Given the description of an element on the screen output the (x, y) to click on. 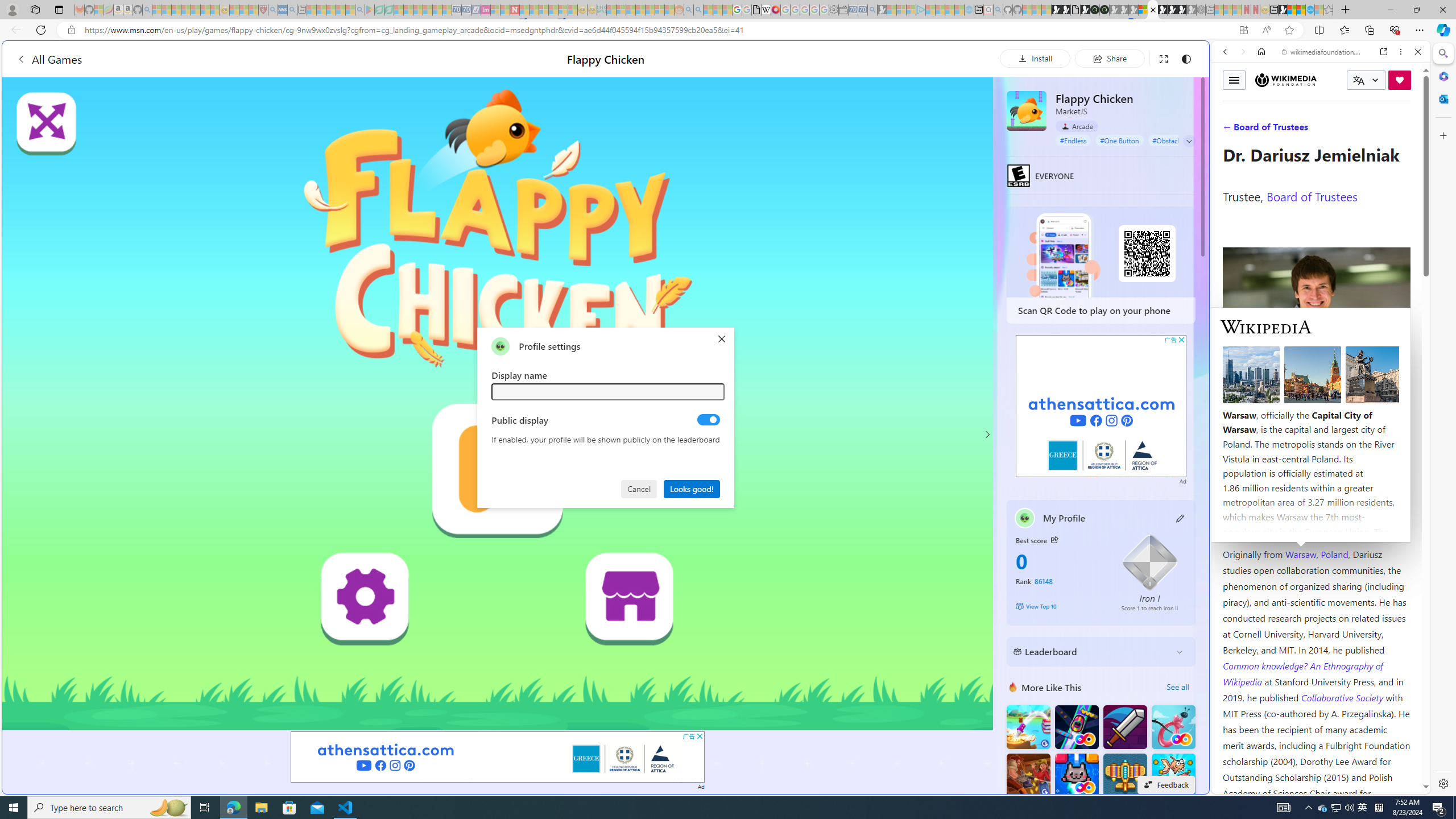
Advertisement (1101, 405)
Warsaw (1300, 554)
Microsoft Start Gaming - Sleeping (881, 9)
Search Filter, VIDEOS (1300, 129)
AutomationID: cbb (1181, 339)
